Given the description of an element on the screen output the (x, y) to click on. 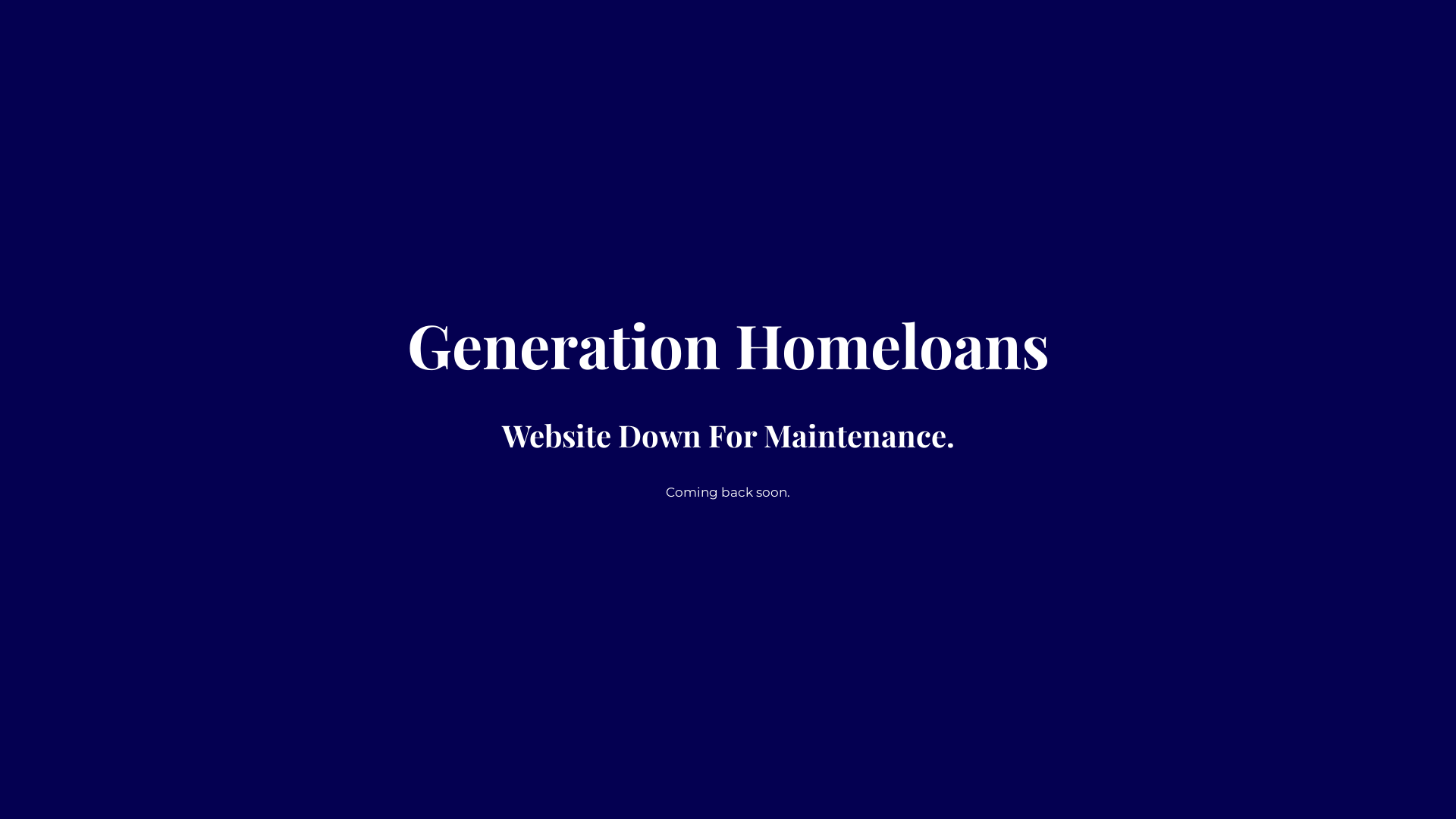
Generation Homeloans Element type: text (727, 357)
